Given the description of an element on the screen output the (x, y) to click on. 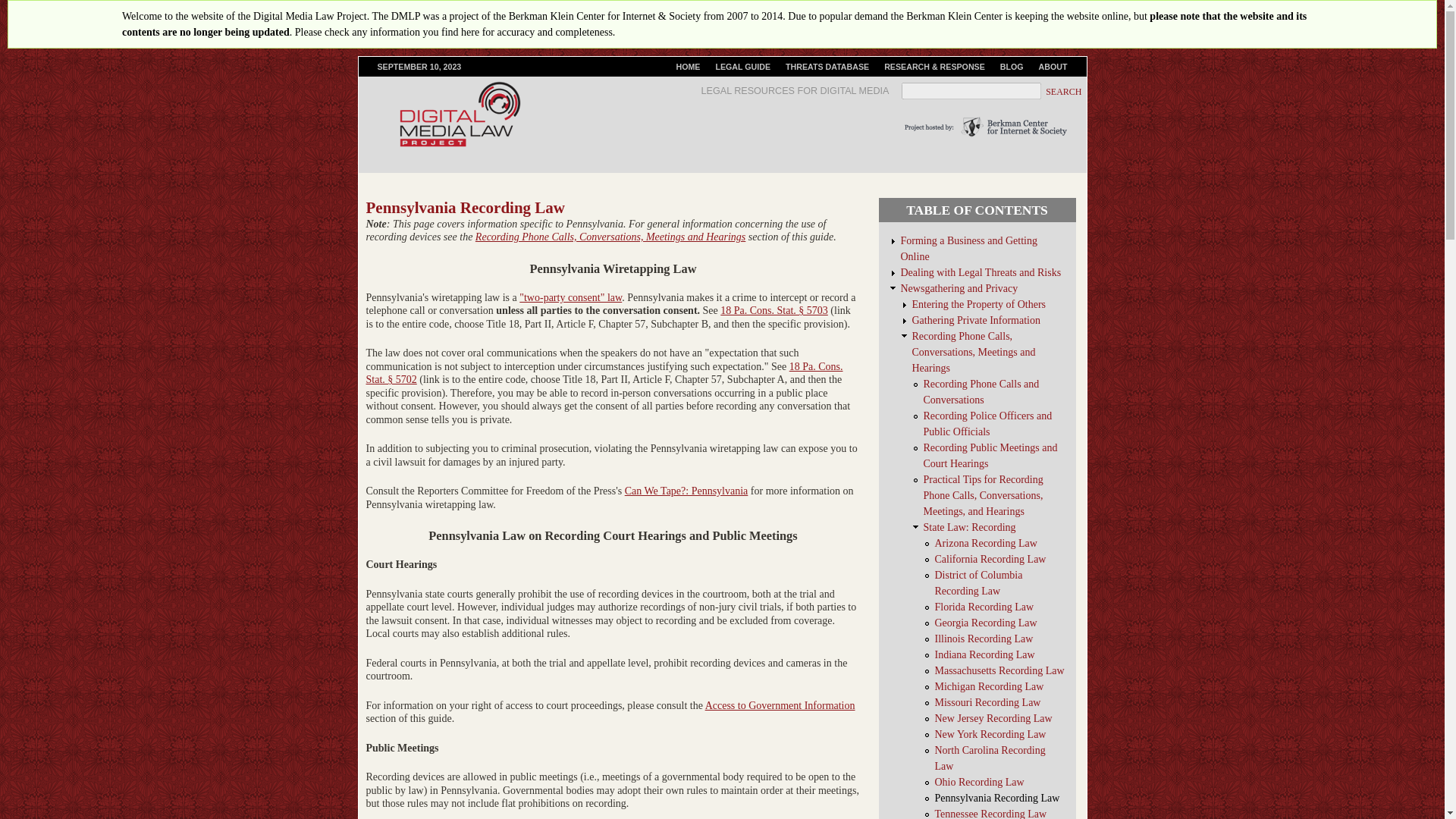
Enter the terms you wish to search for. (971, 90)
CMLP legal threats database (826, 66)
Arizona Recording Law (985, 542)
Recording Phone Calls, Conversations, Meetings and Hearings (610, 236)
Search (1064, 91)
HOME (687, 66)
Recording Police Officers and Public Officials (987, 423)
Recording Phone Calls, Conversations, Meetings and Hearings (973, 351)
Recording Phone Calls and Conversations (570, 297)
Recording Public Meetings and Court Hearings (990, 455)
Digital Media Law Project Home Page (687, 66)
Forming a Business and Getting Online (968, 248)
Can We Tape?: Pennsylvania (686, 490)
State Law: Recording (969, 527)
LEGAL GUIDE (742, 66)
